Given the description of an element on the screen output the (x, y) to click on. 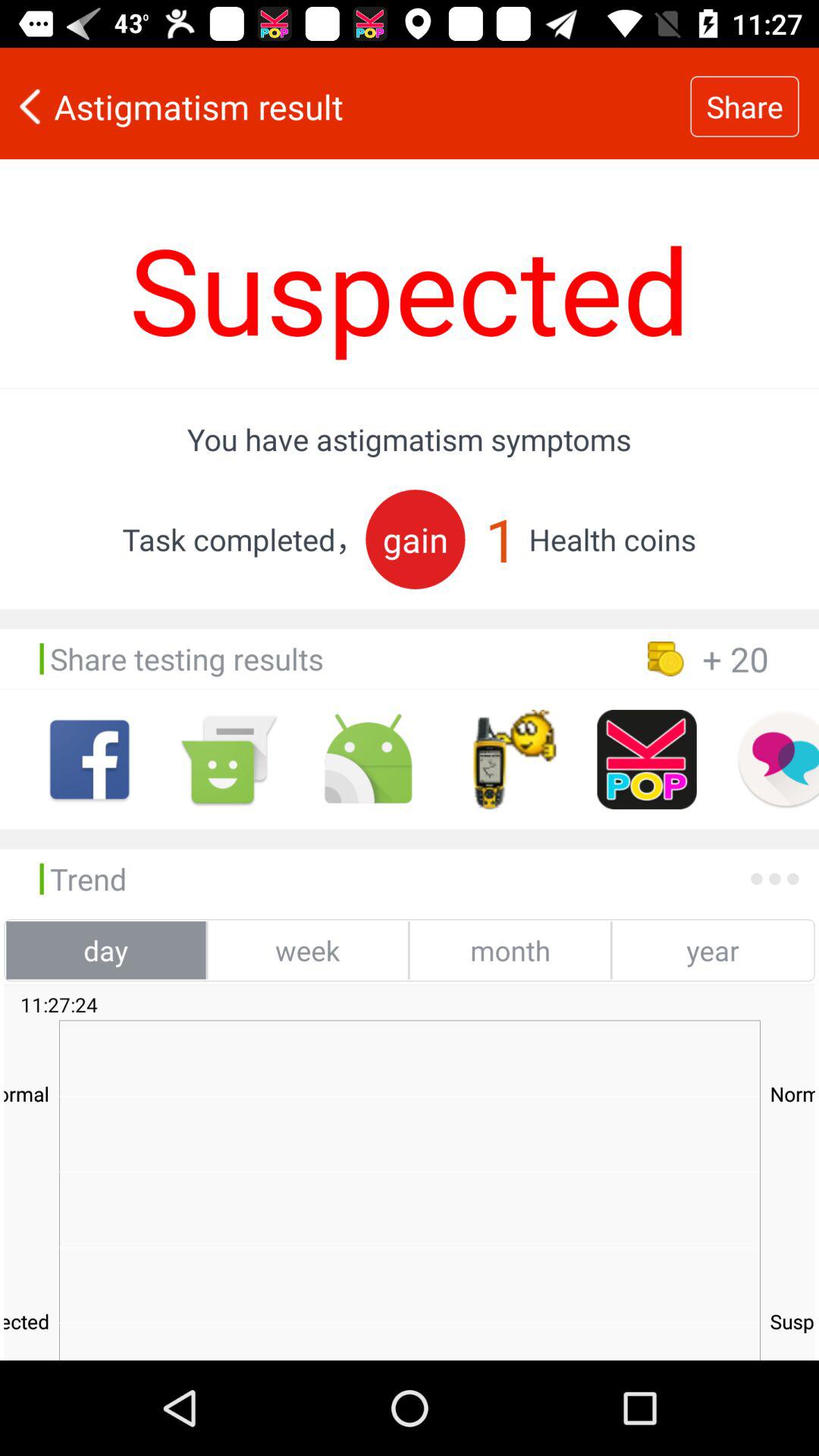
share using some app (507, 759)
